Given the description of an element on the screen output the (x, y) to click on. 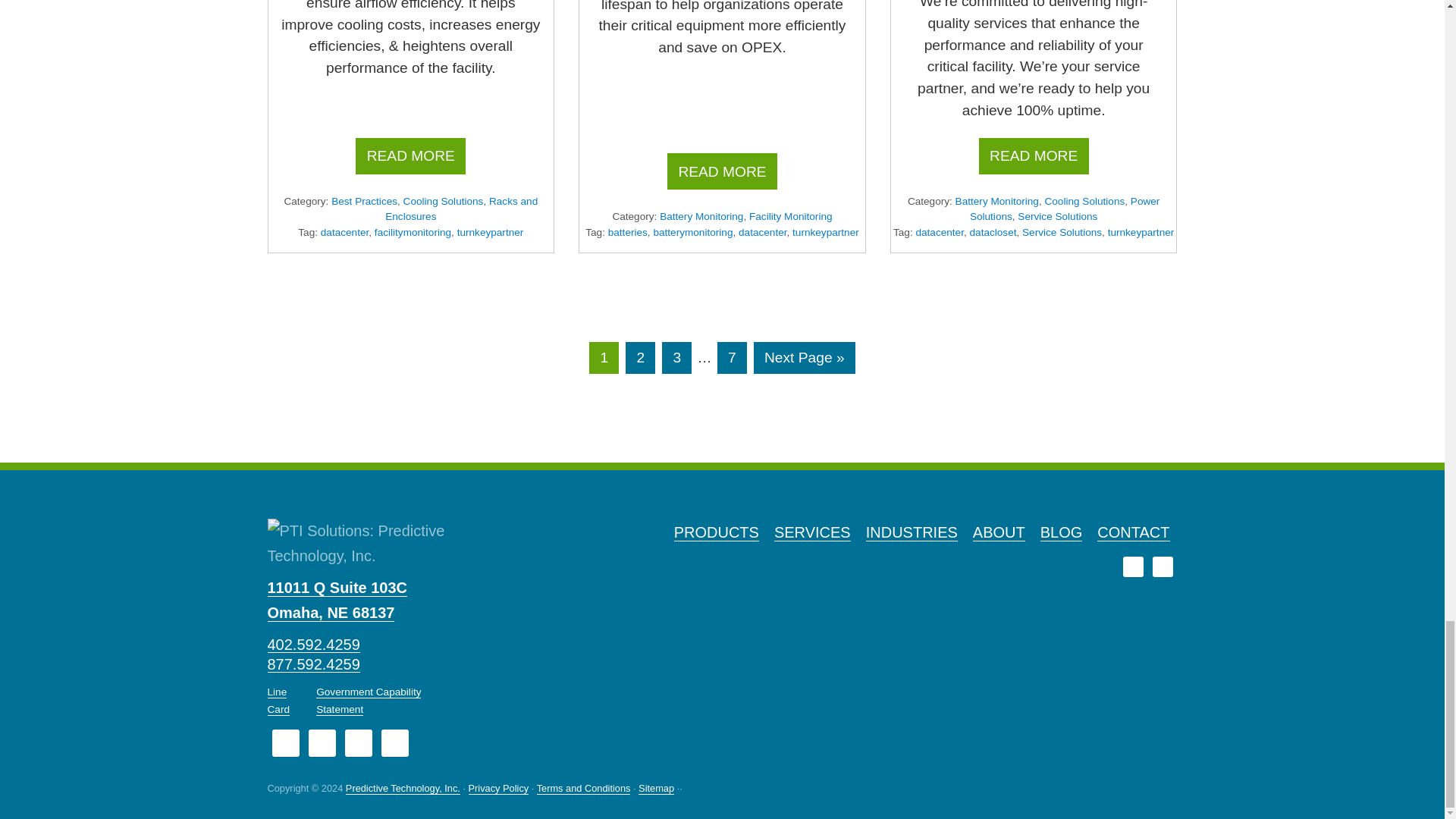
Predictive Technology, Inc (403, 788)
